Given the description of an element on the screen output the (x, y) to click on. 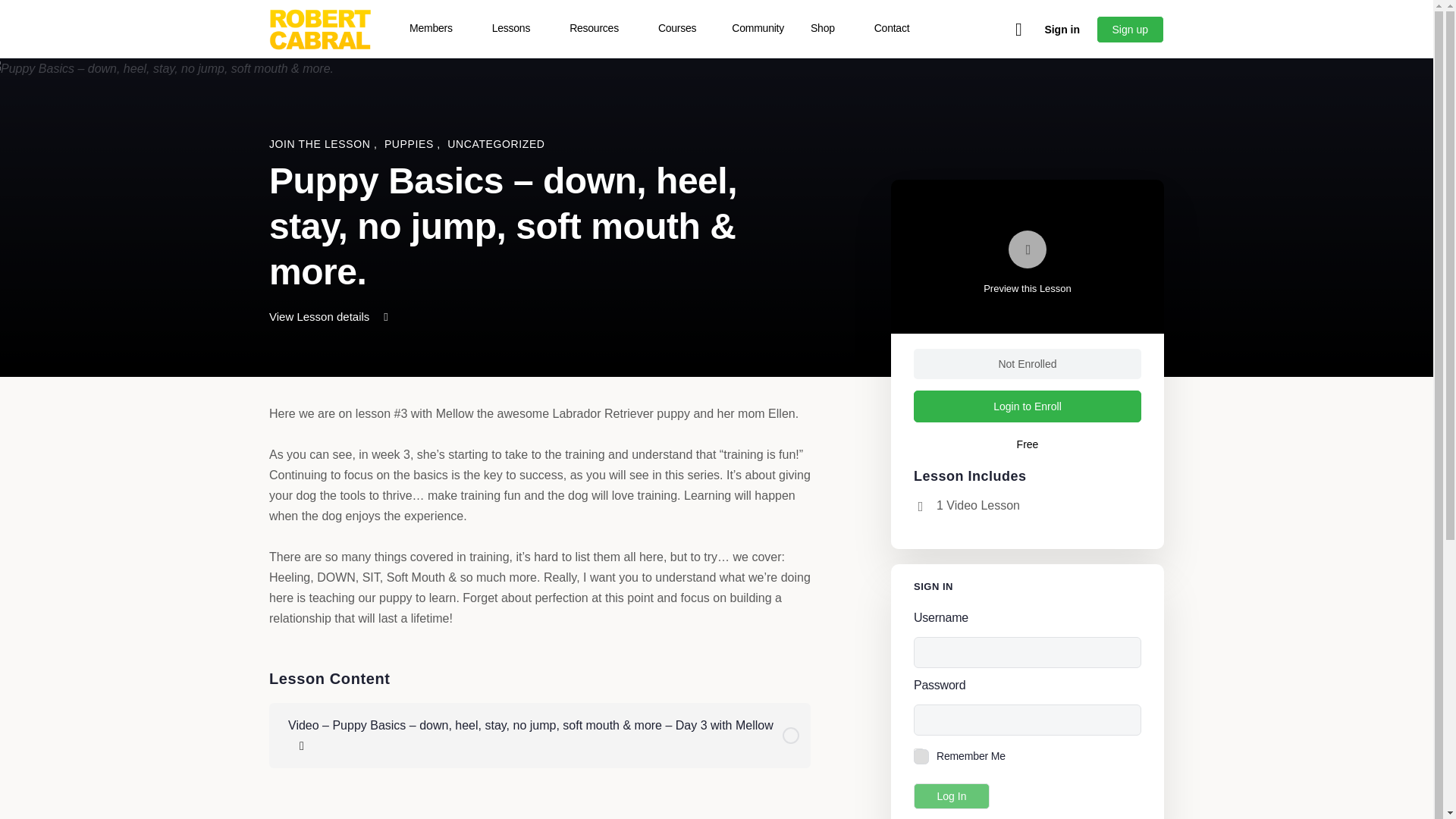
Join The Lesson (321, 143)
Sign in (1062, 29)
Contact (898, 29)
Courses (683, 29)
Members (437, 29)
Community (757, 29)
Resources (600, 29)
Puppies (410, 143)
forever (918, 753)
Log In (952, 795)
